Given the description of an element on the screen output the (x, y) to click on. 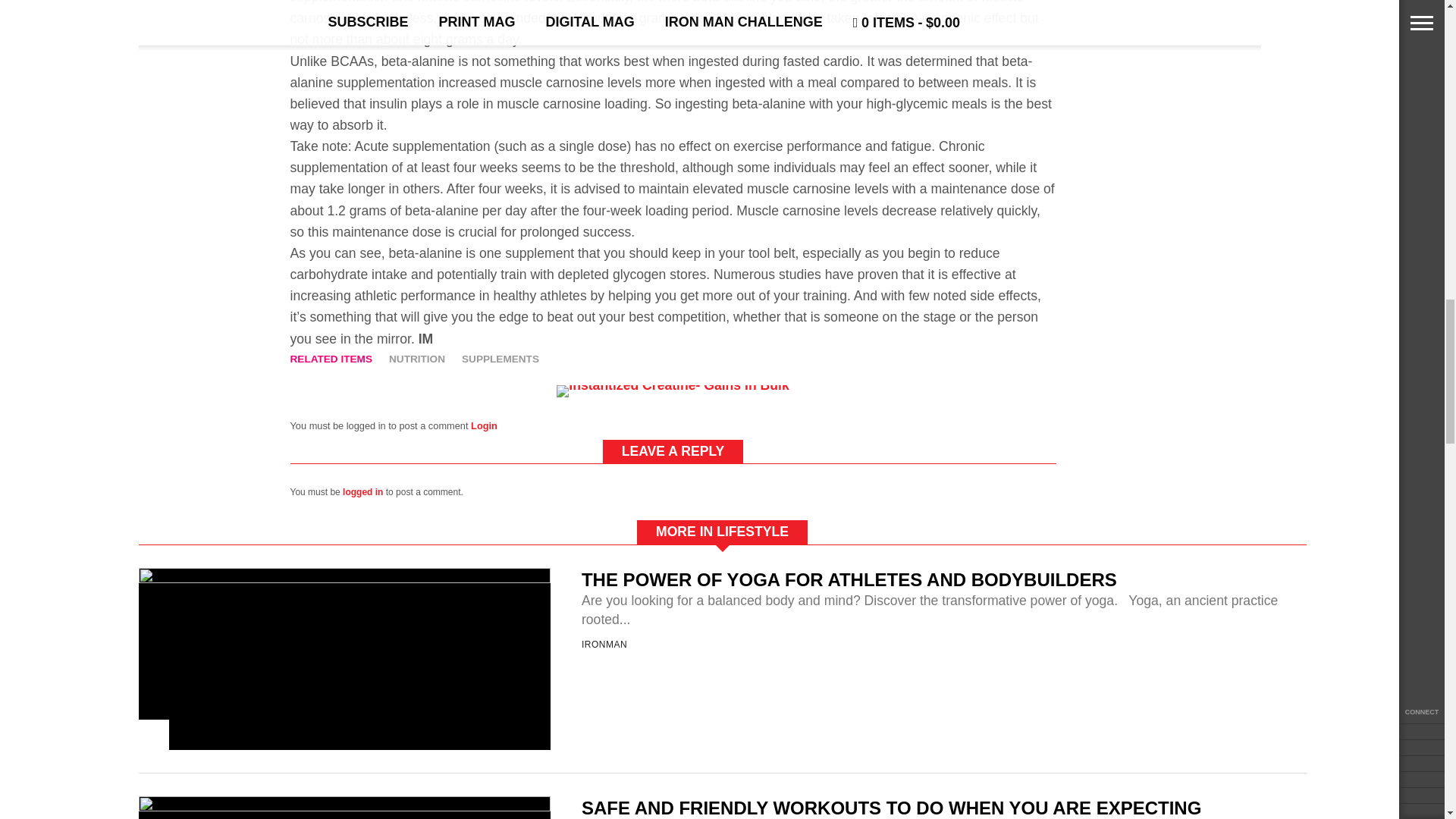
Safe and Friendly Workouts to Do When You Are Expecting (344, 807)
The Power of Yoga For Athletes and Bodybuilders (344, 578)
Instantized Creatine - Gains In Bulk (672, 385)
